Given the description of an element on the screen output the (x, y) to click on. 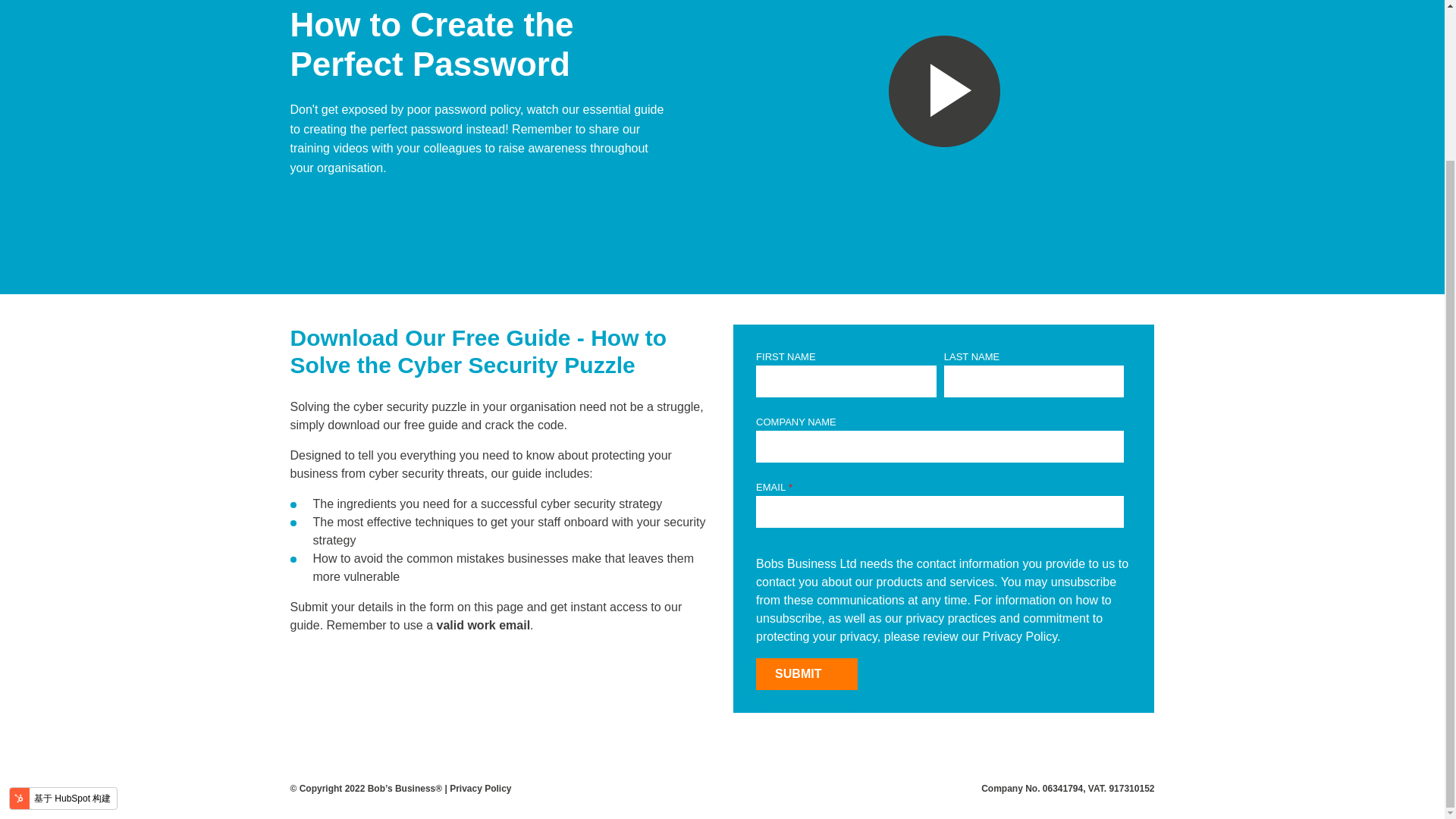
Submit (806, 674)
Privacy Policy (480, 598)
Submit (806, 674)
